Given the description of an element on the screen output the (x, y) to click on. 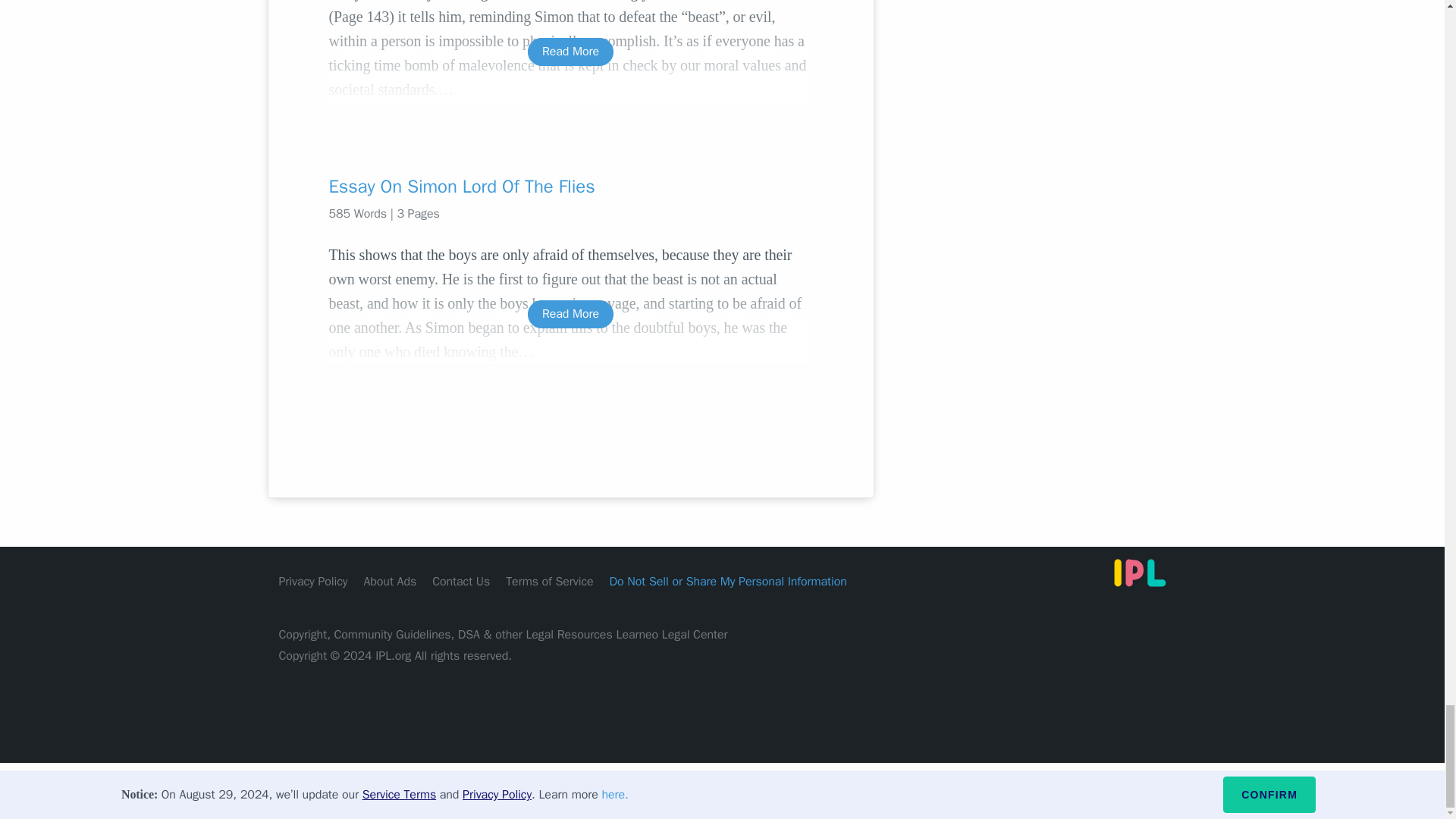
Terms of Service (548, 581)
About Ads (389, 581)
Contact Us (460, 581)
Privacy Policy (313, 581)
